Given the description of an element on the screen output the (x, y) to click on. 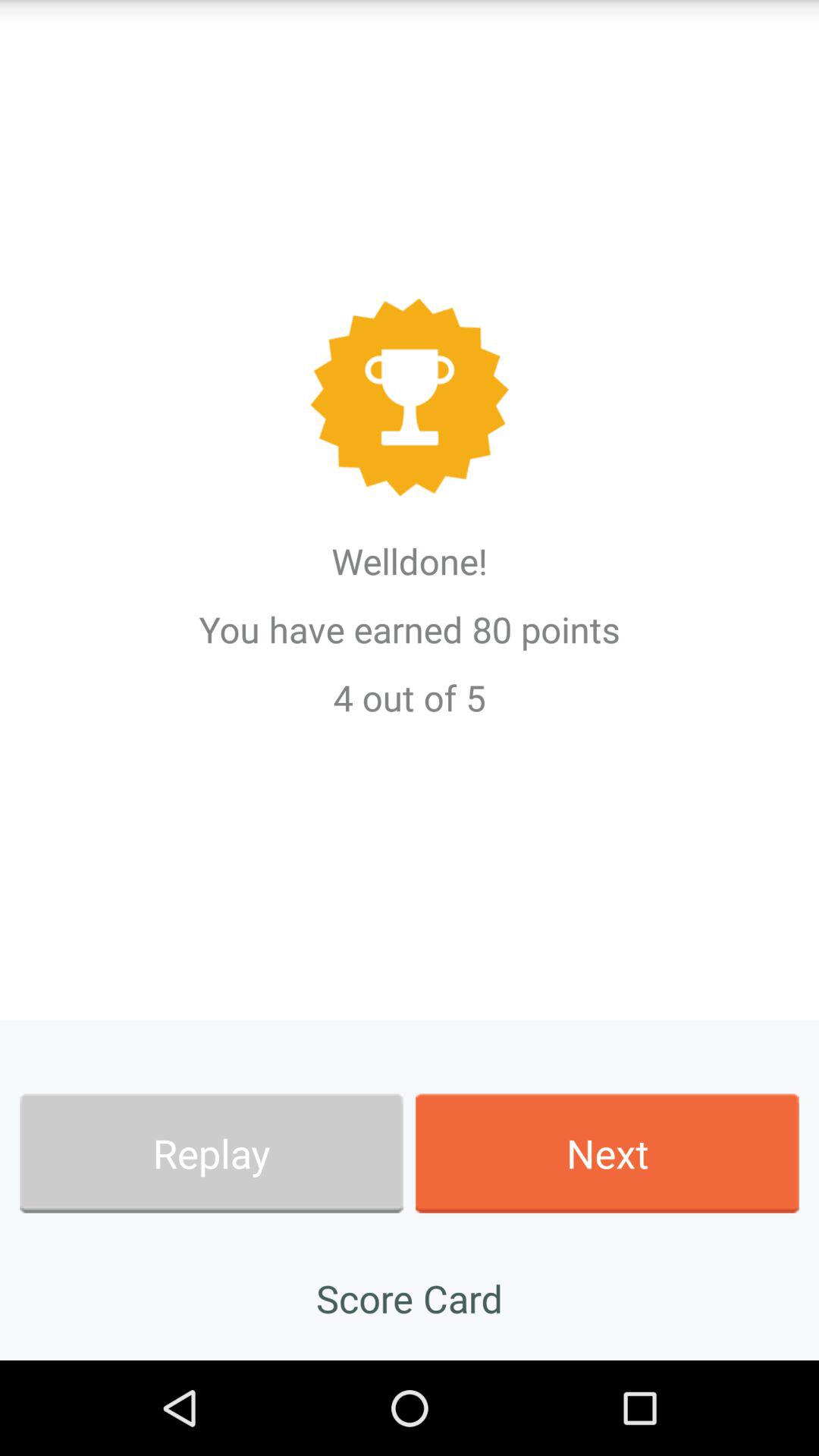
open app below the 4 out of (211, 1153)
